Given the description of an element on the screen output the (x, y) to click on. 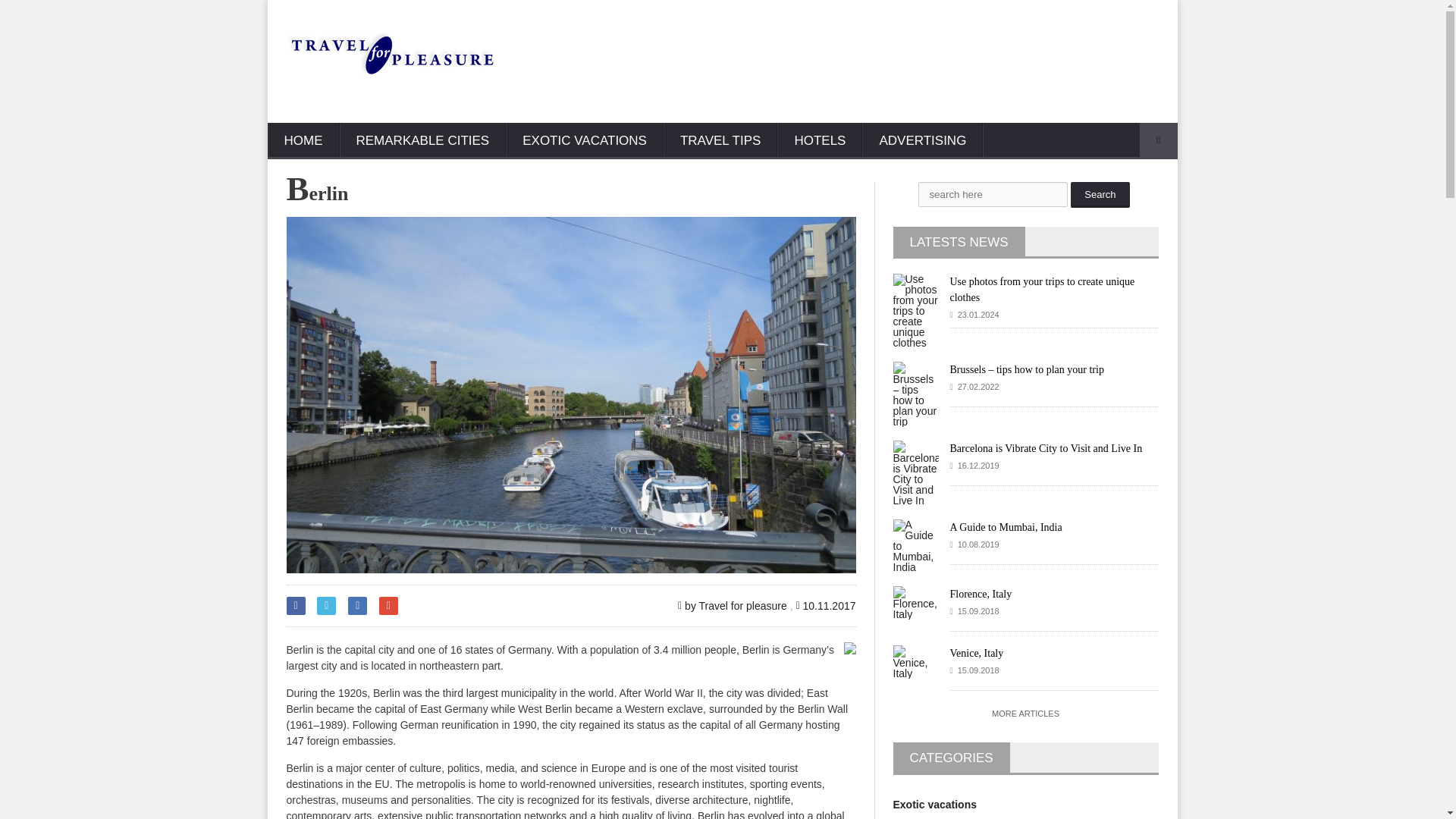
HOME (302, 140)
TRAVEL TIPS (720, 140)
by Travel for pleasure (732, 605)
Search (1099, 194)
REMARKABLE CITIES (422, 140)
Posts by Travel for pleasure (732, 605)
Use photos from your trips to create unique clothes (1041, 289)
EXOTIC VACATIONS (584, 140)
HOTELS (819, 140)
Search (1099, 194)
